Given the description of an element on the screen output the (x, y) to click on. 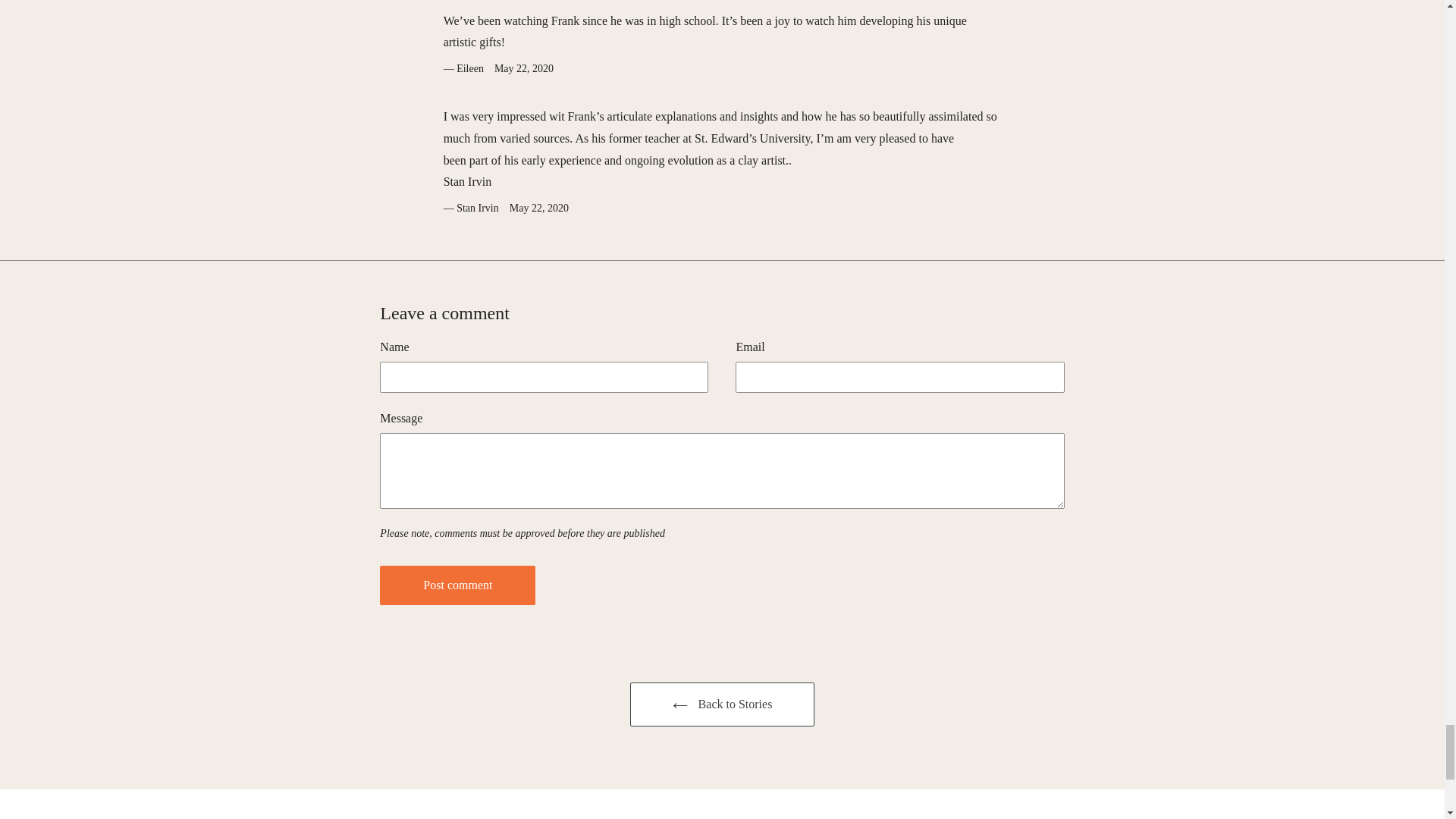
Post comment (457, 584)
